Given the description of an element on the screen output the (x, y) to click on. 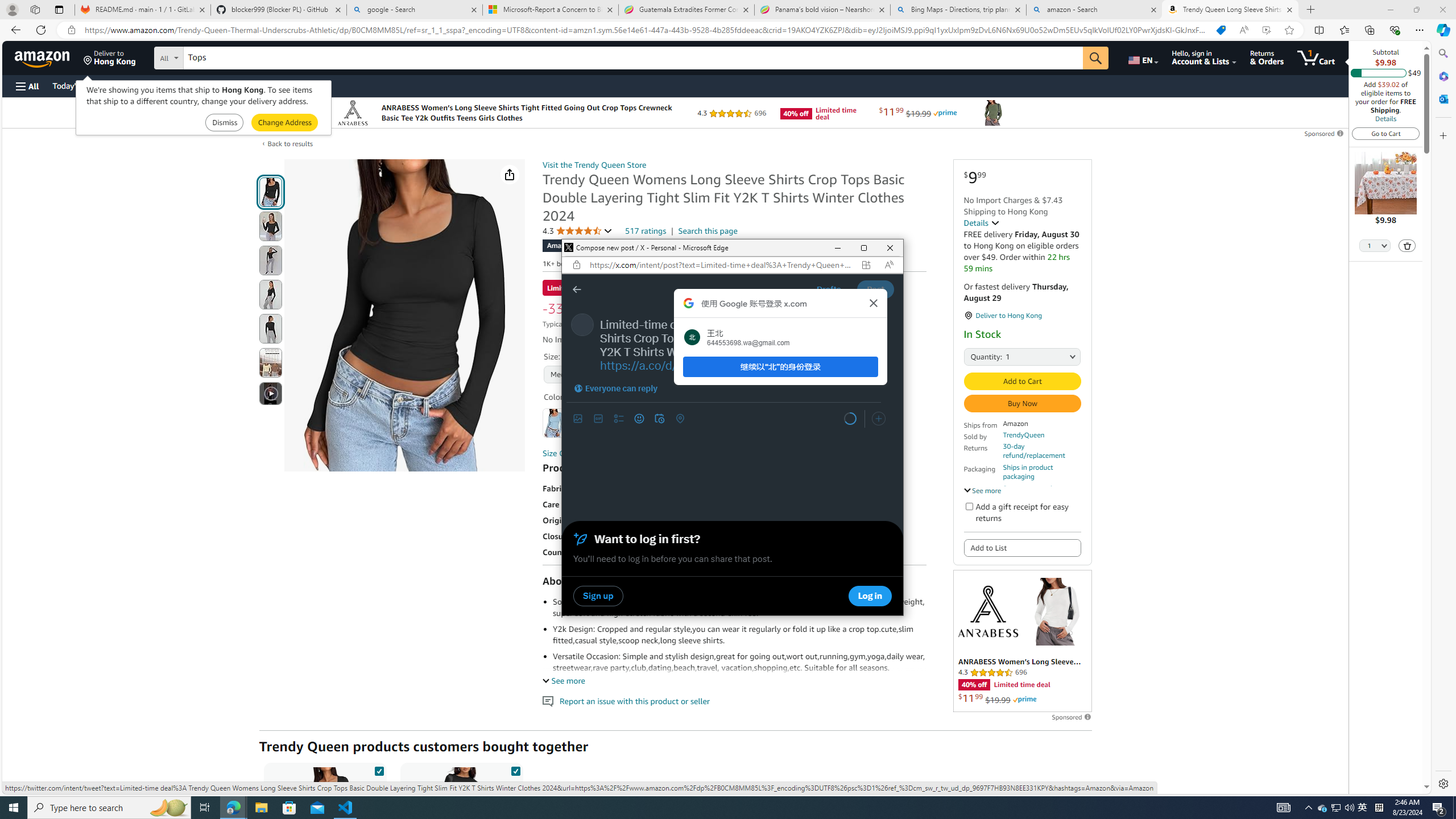
Visual Studio Code - 1 running window (345, 807)
Returns & Orders (1266, 57)
Go to Cart (1385, 133)
AutomationID: thematicBundleCheck-1 (379, 768)
Notification Chevron (1308, 807)
Ships in product packaging (1042, 471)
Add photos or video (577, 418)
Running applications (700, 807)
File Explorer (261, 807)
You have the best price! (1220, 29)
Sell (290, 85)
Secure transaction (1032, 488)
Show desktop (1454, 807)
